Given the description of an element on the screen output the (x, y) to click on. 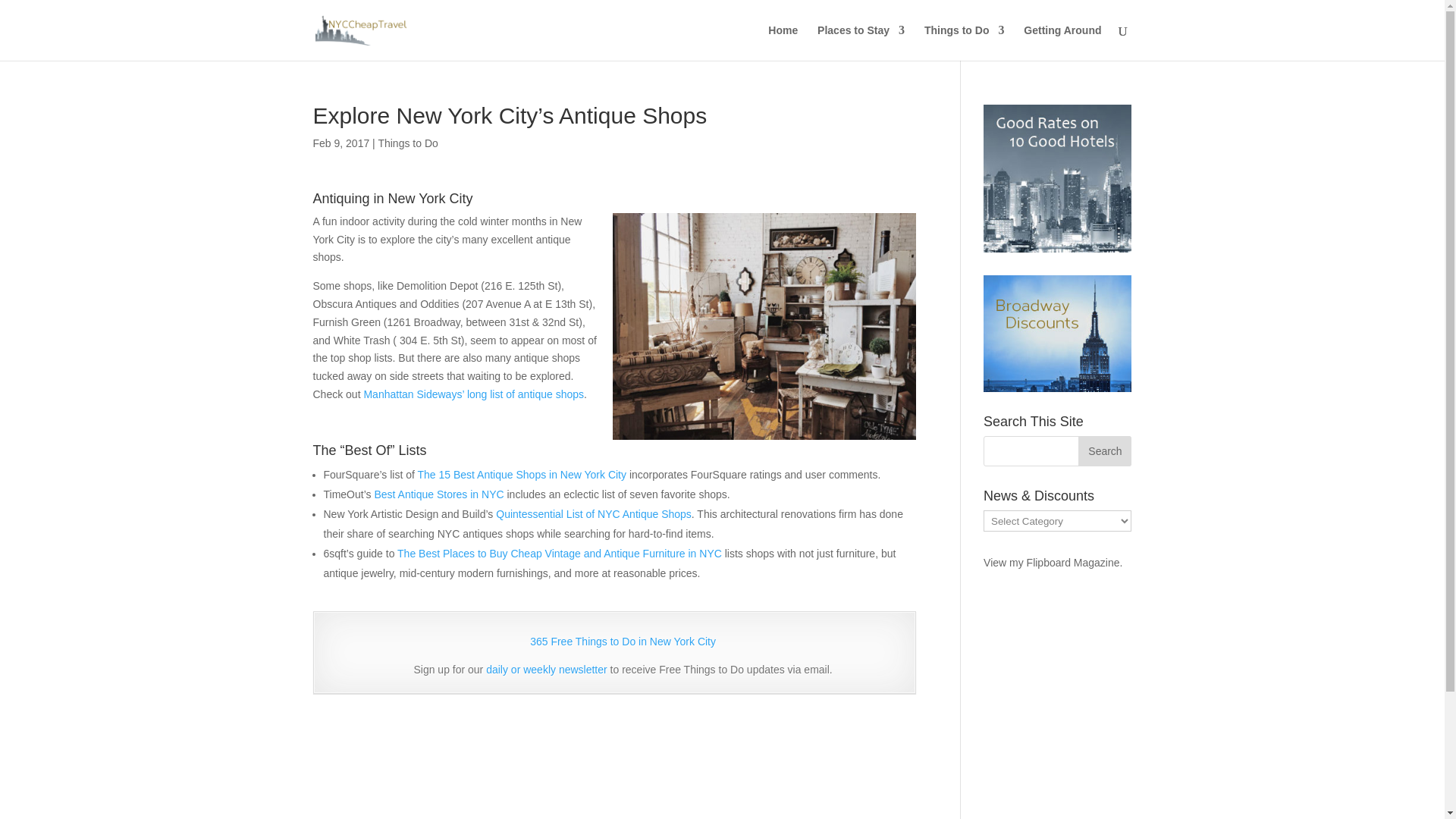
daily or weekly newsletter (546, 669)
Places to Stay (860, 42)
365 Free Things to Do in New York City (622, 641)
View my Flipboard Magazine. (1053, 562)
Things to Do (407, 143)
The 15 Best Antique Shops in New York City (521, 474)
Search (1104, 450)
Things to Do (964, 42)
Quintessential List of NYC Antique Shops (593, 513)
Getting Around (1061, 42)
